Given the description of an element on the screen output the (x, y) to click on. 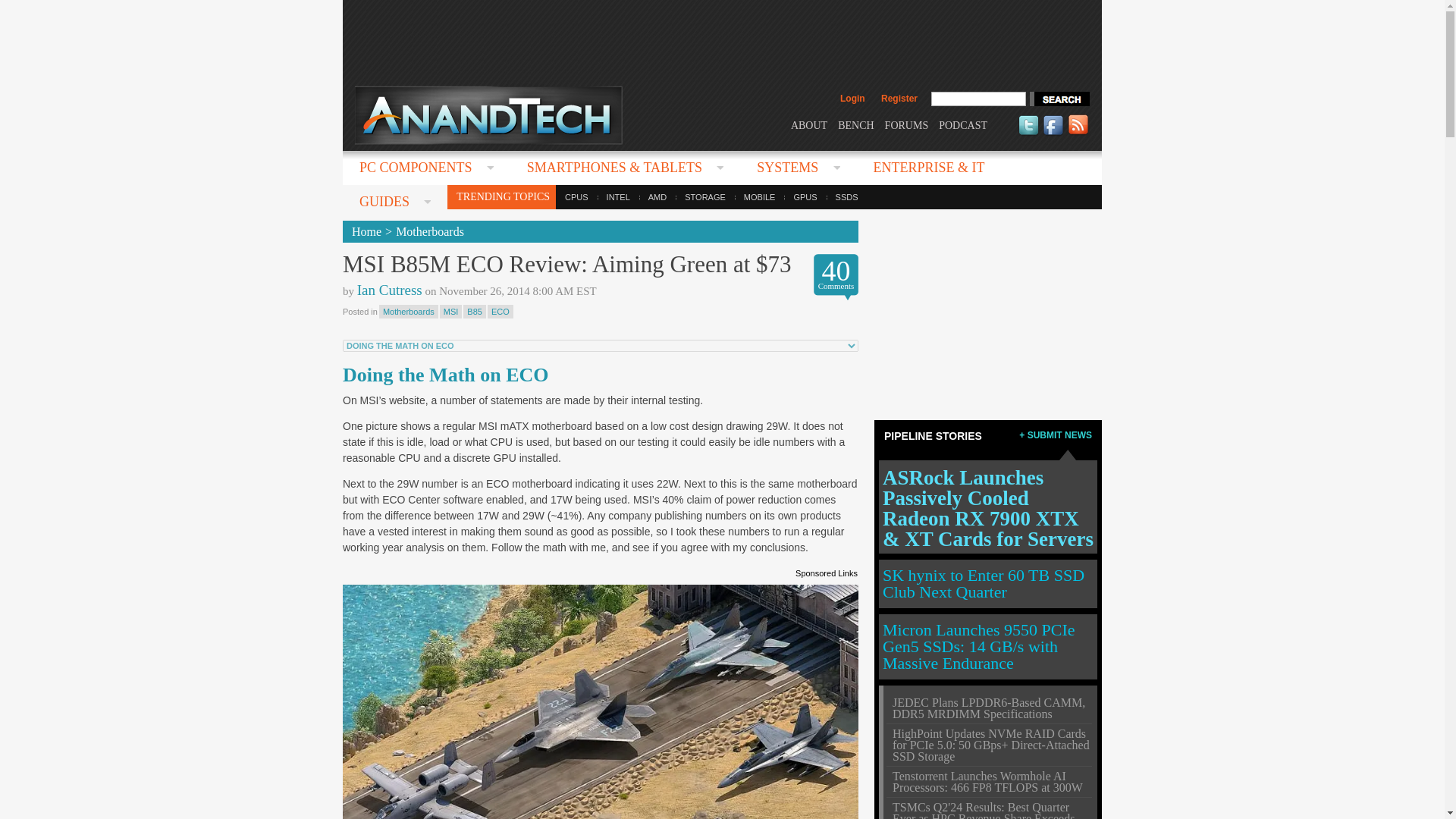
search (1059, 98)
ABOUT (808, 125)
Login (852, 98)
FORUMS (906, 125)
PODCAST (963, 125)
search (1059, 98)
Register (898, 98)
BENCH (855, 125)
search (1059, 98)
